Given the description of an element on the screen output the (x, y) to click on. 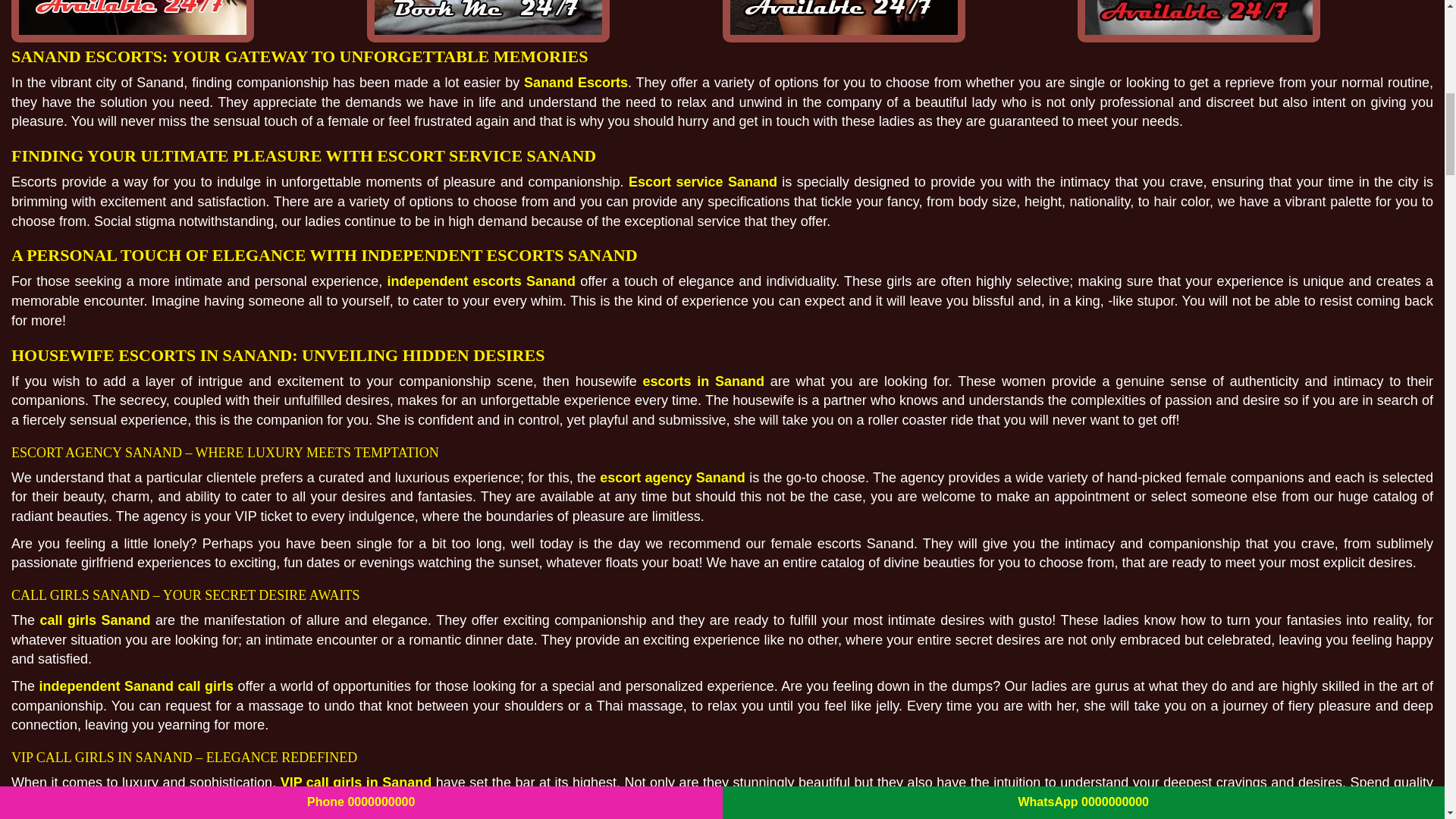
Verified Escorts Sanand (1198, 21)
Models Escorts Sanand (132, 21)
Hot Girl in Sanand (488, 21)
Premium Escorts Sanand (842, 21)
